Given the description of an element on the screen output the (x, y) to click on. 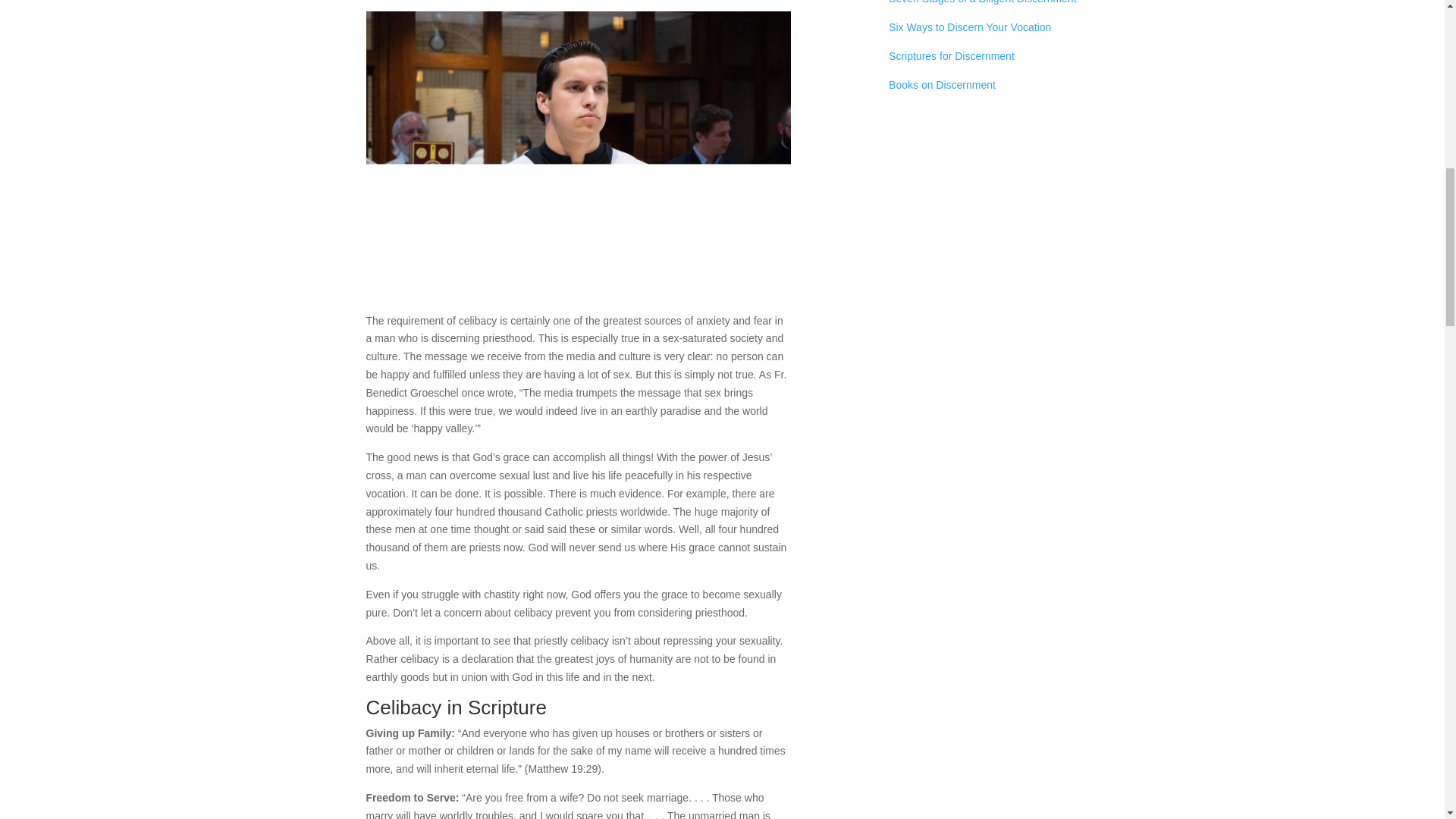
Scriptures for Discernment (951, 55)
Seven Stages of a Diligent Discernment (981, 2)
Six Ways to Discern Your Vocation (969, 27)
Books on Discernment (941, 84)
